Given the description of an element on the screen output the (x, y) to click on. 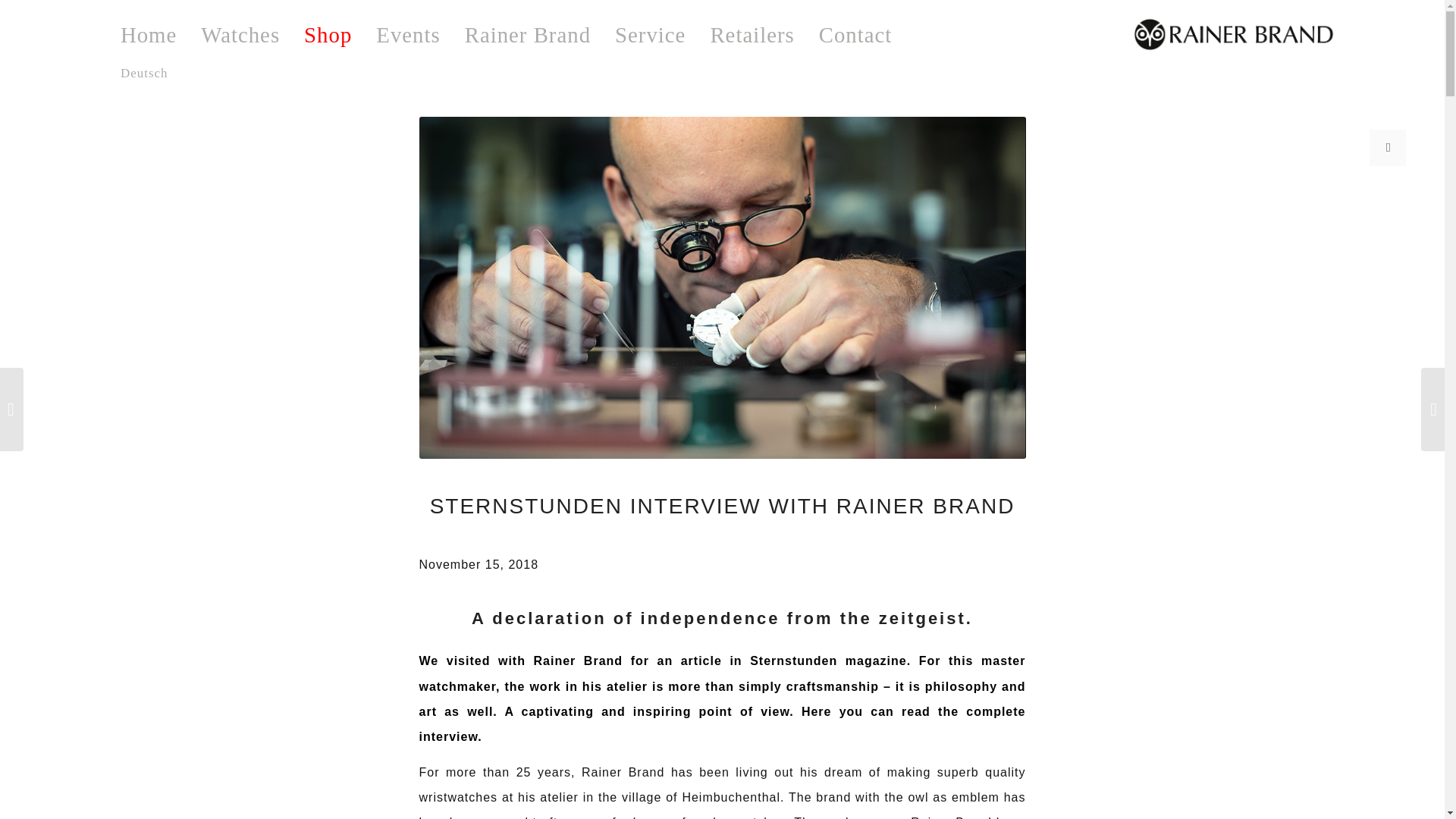
Retailers (751, 34)
Logo-schwarz (1233, 34)
Home (148, 34)
Rainer Brand (527, 34)
Shop (328, 34)
Contact (855, 34)
Deutsch (143, 73)
Events (407, 34)
Service (649, 34)
Watches (240, 34)
